Given the description of an element on the screen output the (x, y) to click on. 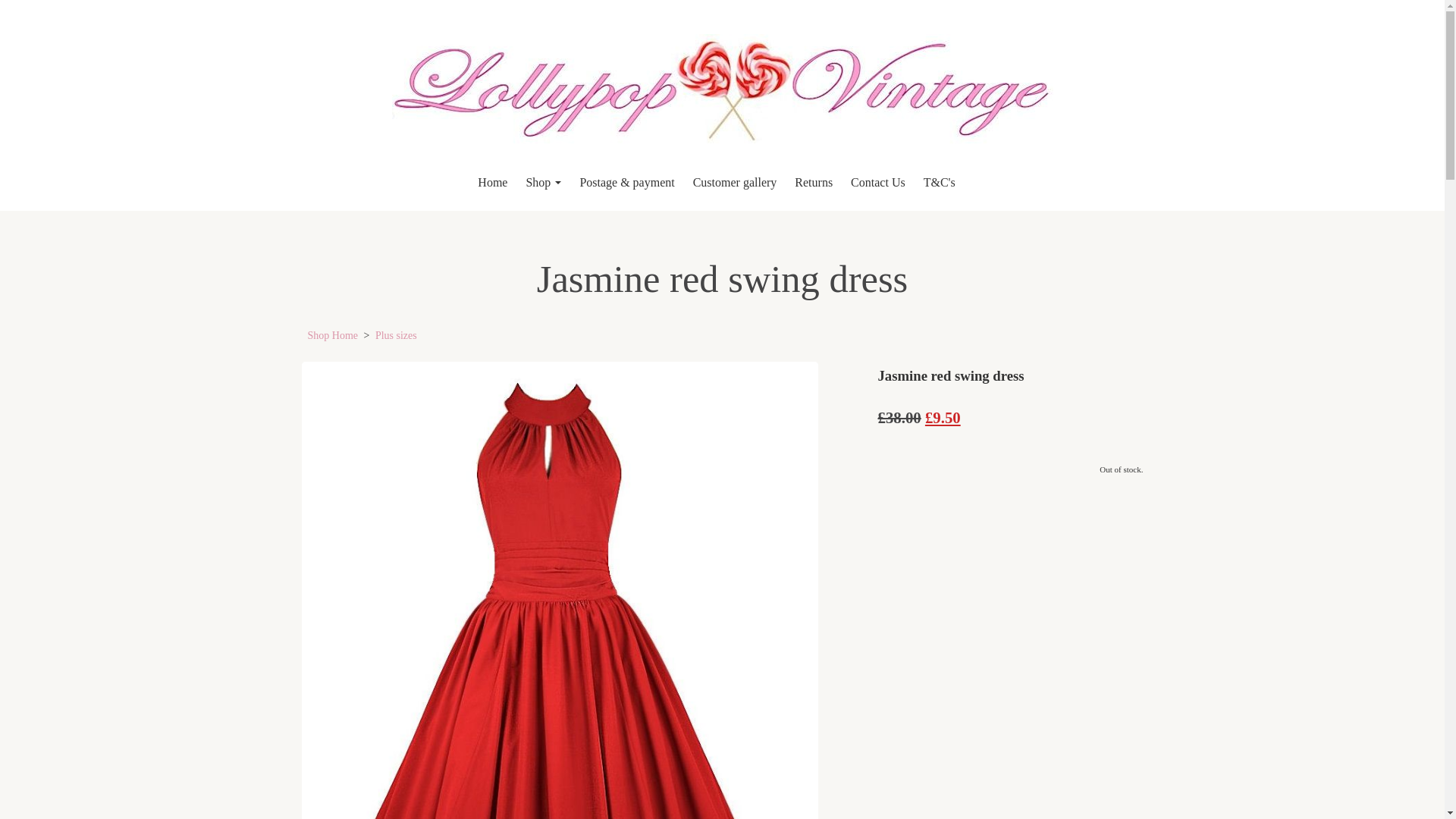
Plus sizes (396, 335)
Customer gallery (735, 183)
Shop (543, 183)
Returns (813, 183)
Home (492, 183)
Shop Home (332, 335)
Contact Us (877, 183)
